Given the description of an element on the screen output the (x, y) to click on. 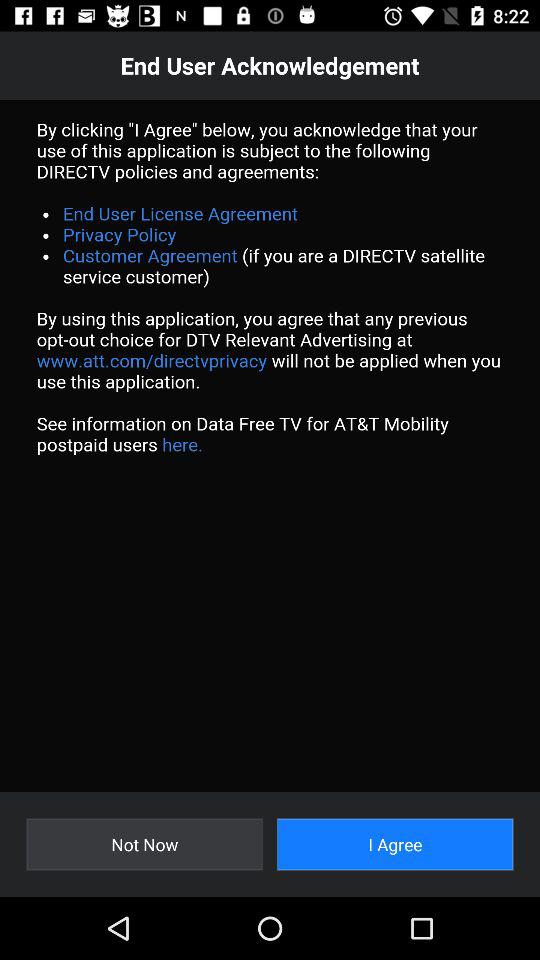
user recognition (270, 445)
